Given the description of an element on the screen output the (x, y) to click on. 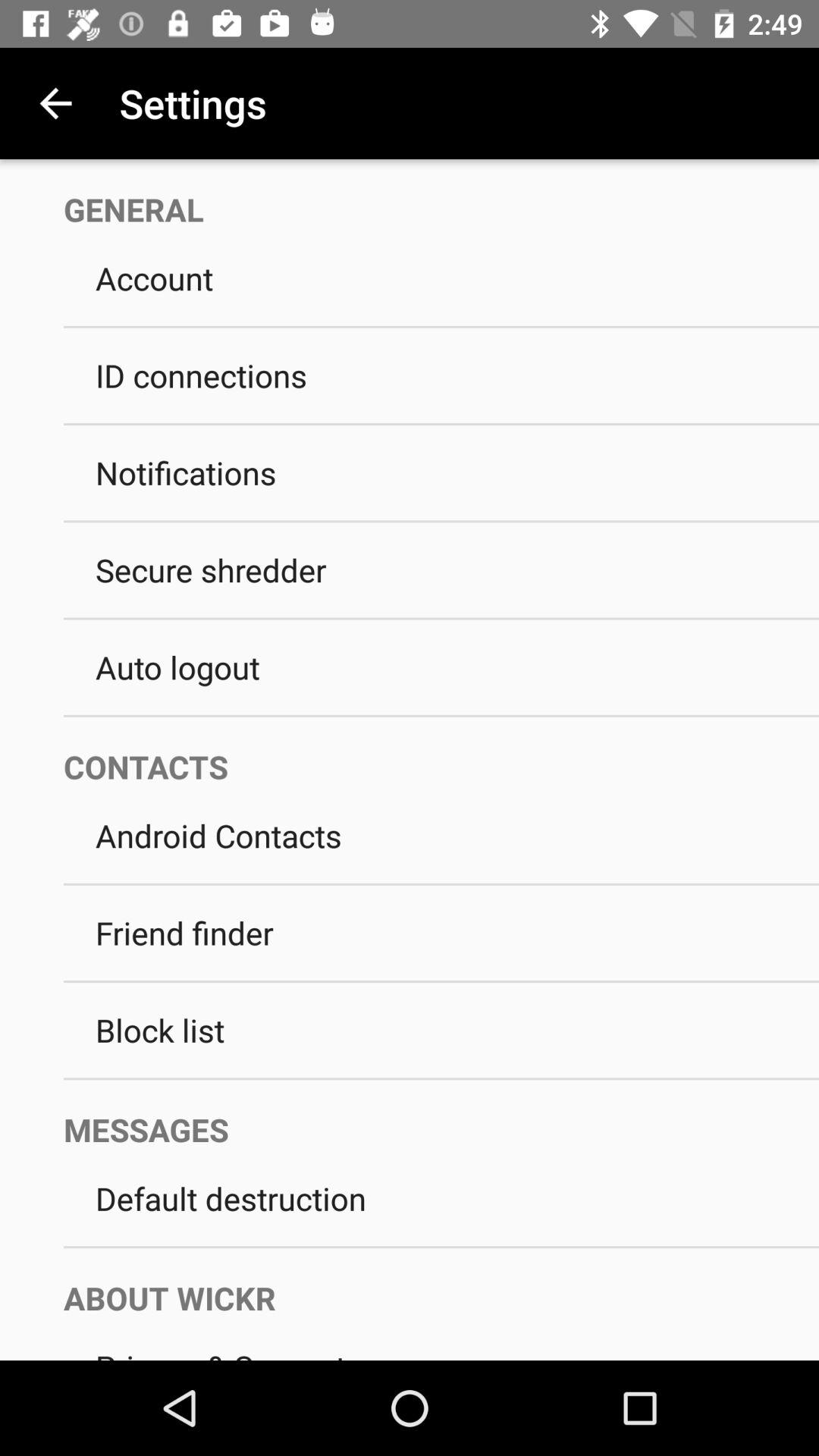
launch app to the left of settings icon (55, 103)
